Given the description of an element on the screen output the (x, y) to click on. 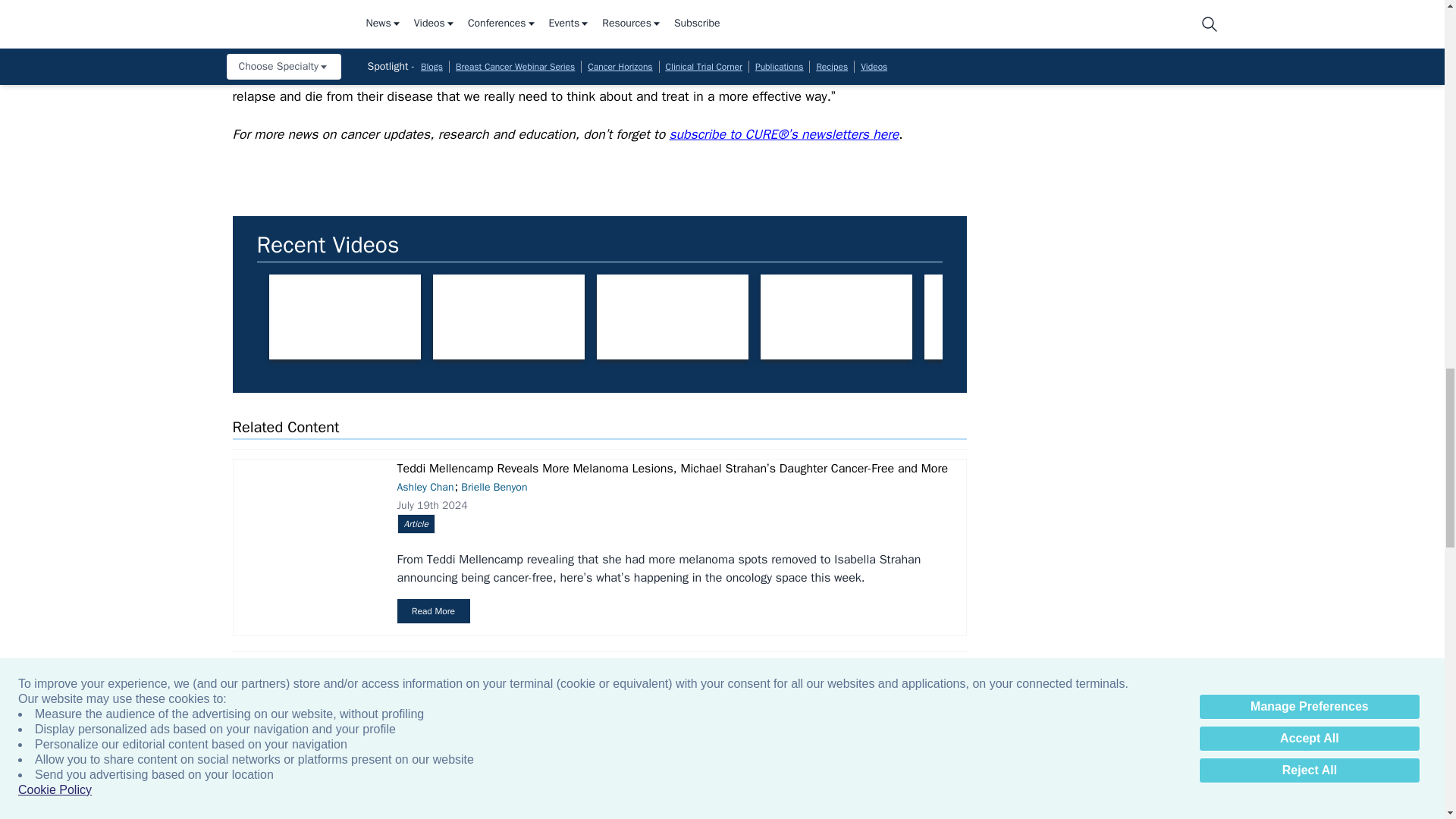
Rabbi G (1326, 317)
